Given the description of an element on the screen output the (x, y) to click on. 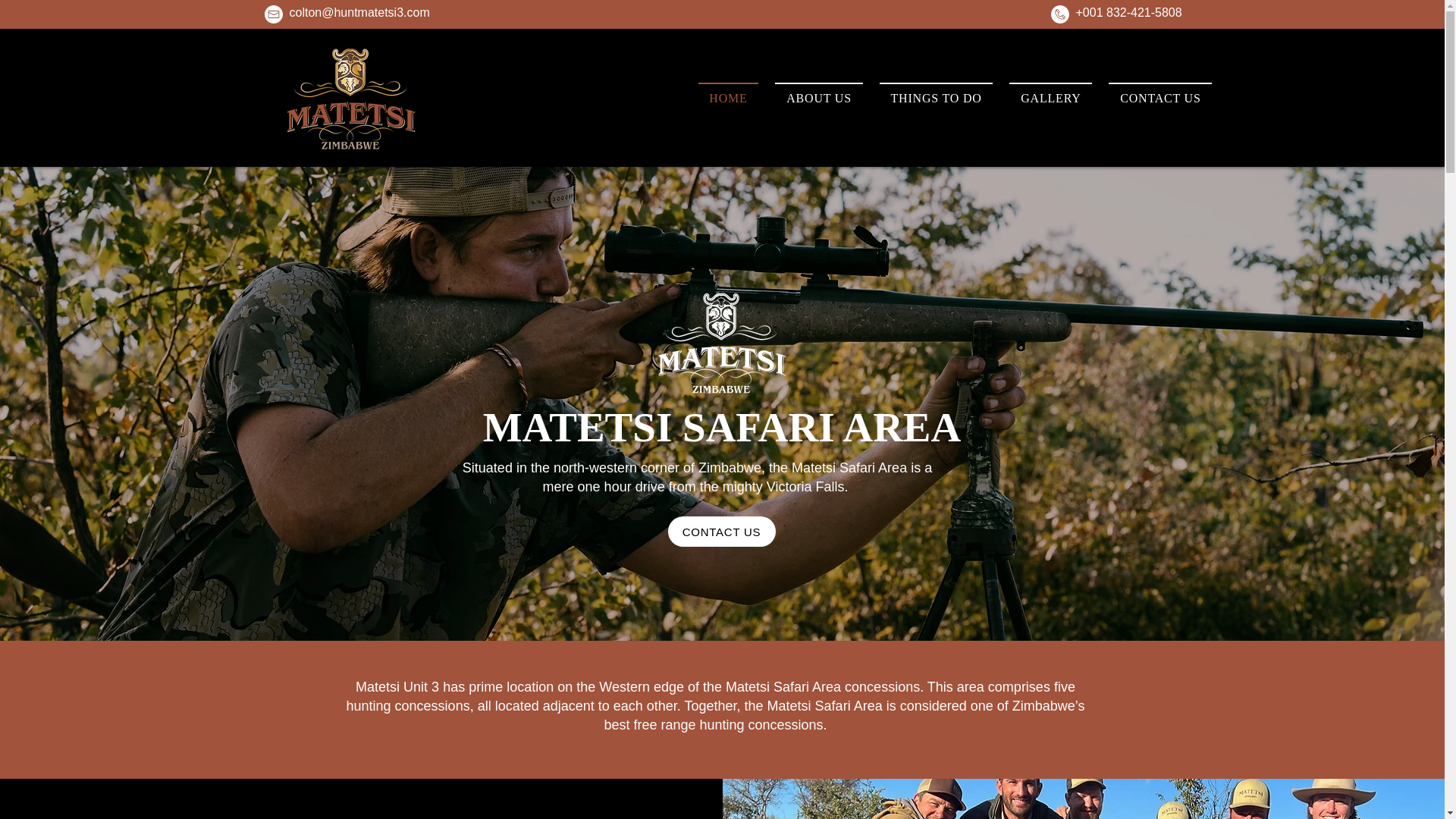
CONTACT US (1159, 97)
ABOUT US (817, 97)
THINGS TO DO (935, 97)
HOME (727, 97)
GALLERY (1050, 97)
CONTACT US (720, 531)
